Given the description of an element on the screen output the (x, y) to click on. 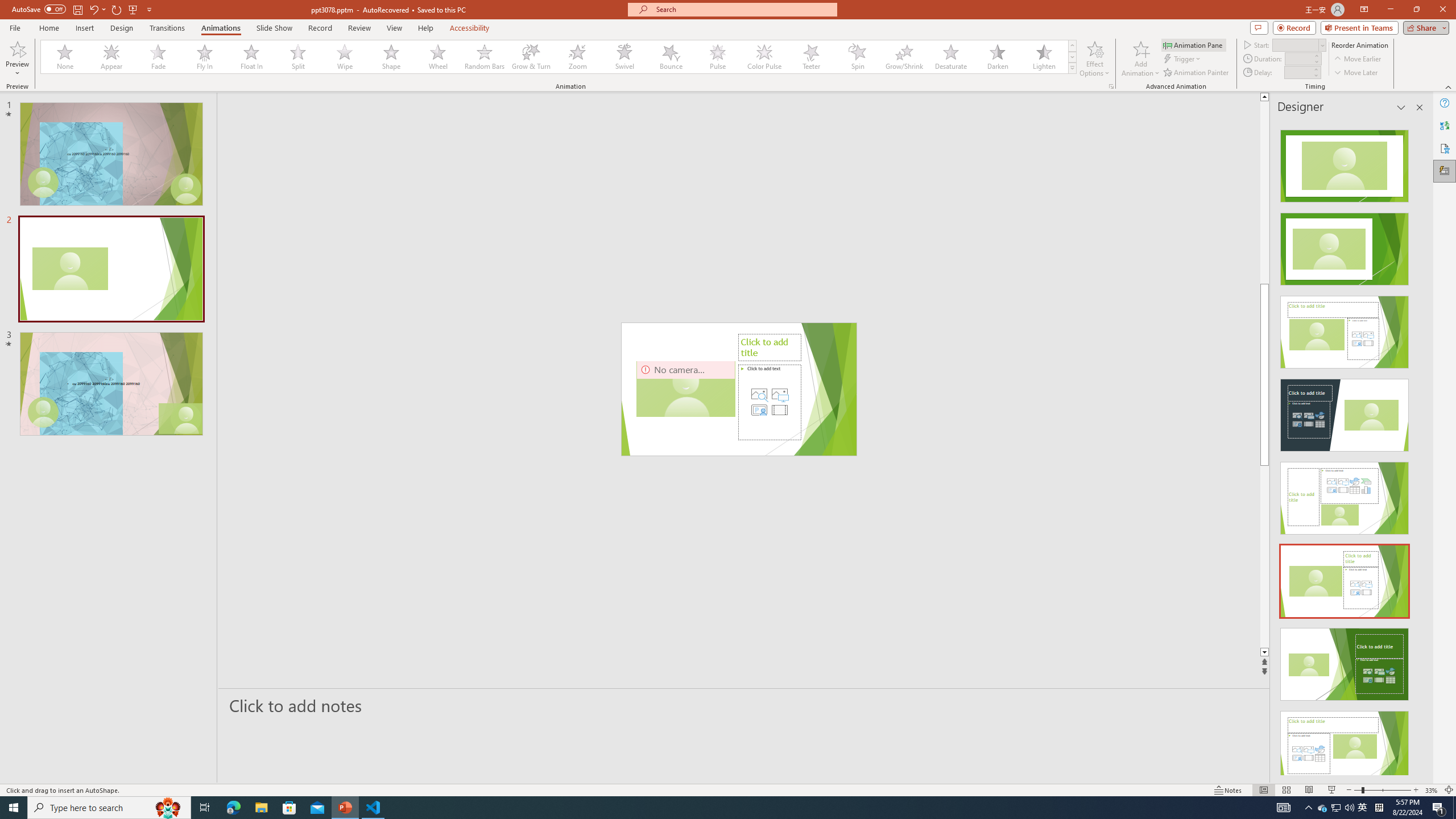
Pulse (717, 56)
Animation Styles (1071, 67)
Animation Duration (1298, 58)
Slide Notes (743, 705)
Class: NetUIScrollBar (1418, 447)
Fly In (205, 56)
